Given the description of an element on the screen output the (x, y) to click on. 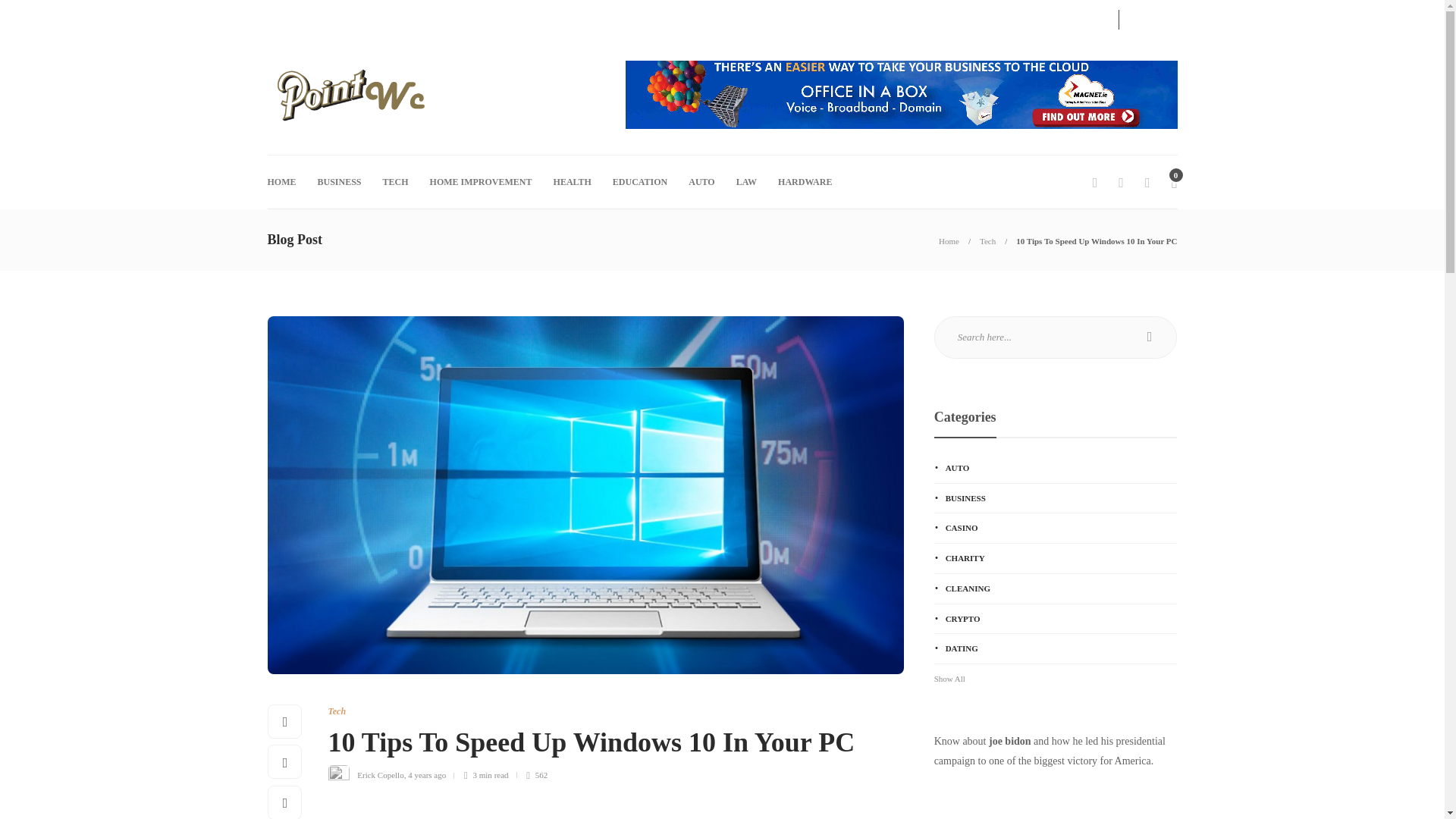
HOME IMPROVEMENT (480, 181)
Home (949, 240)
Tech (987, 240)
Home (949, 240)
10 Tips To Speed Up Windows 10 In Your PC (1096, 240)
HARDWARE (804, 181)
EDUCATION (639, 181)
Search text (1055, 337)
LOG IN (1077, 17)
Contact us (287, 17)
